Given the description of an element on the screen output the (x, y) to click on. 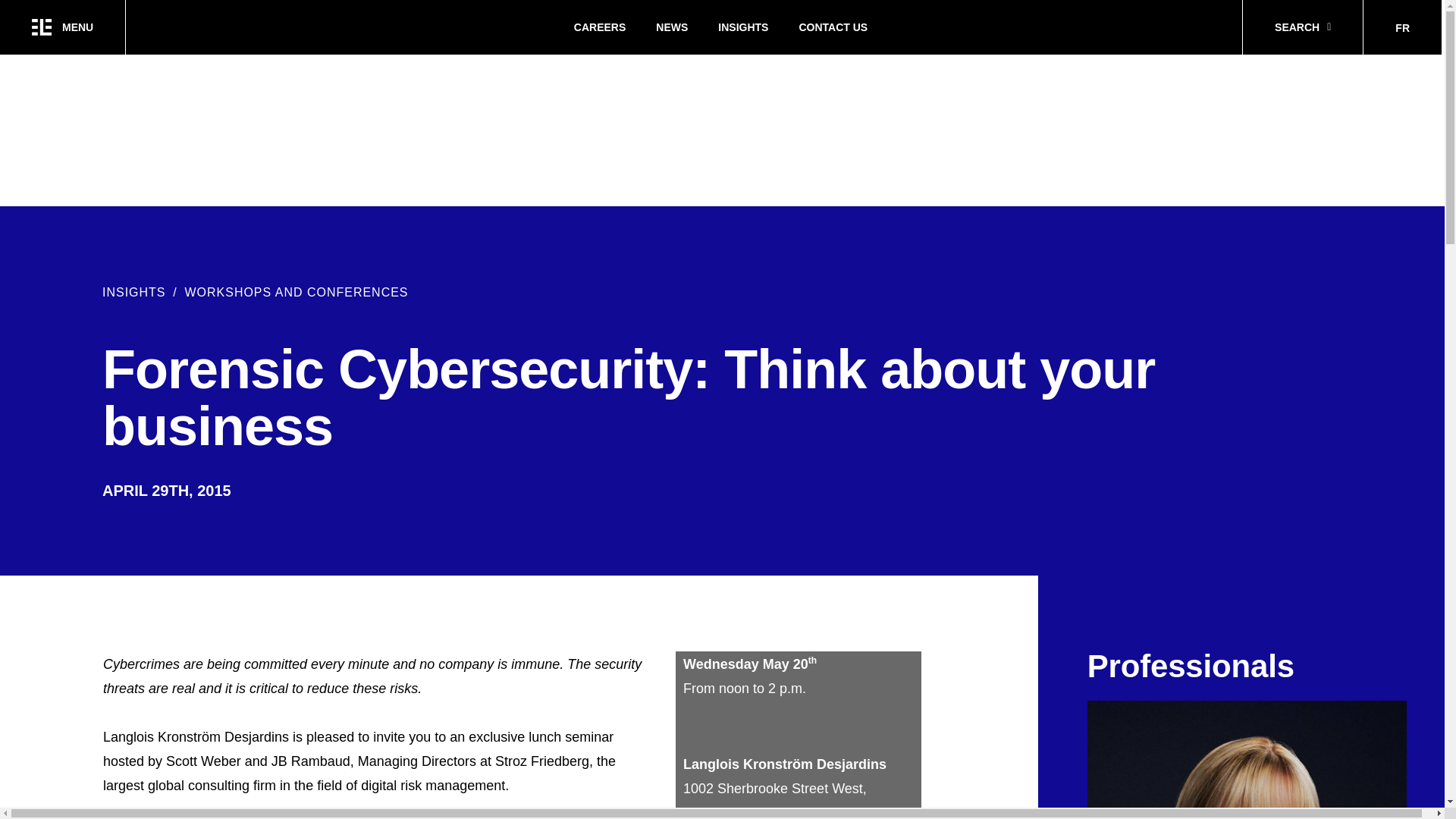
CAREERS (599, 27)
FR (1401, 28)
SEARCH (1301, 27)
NEWS (671, 27)
INSIGHTS (742, 27)
CONTACT US (832, 27)
MENU (62, 27)
